Given the description of an element on the screen output the (x, y) to click on. 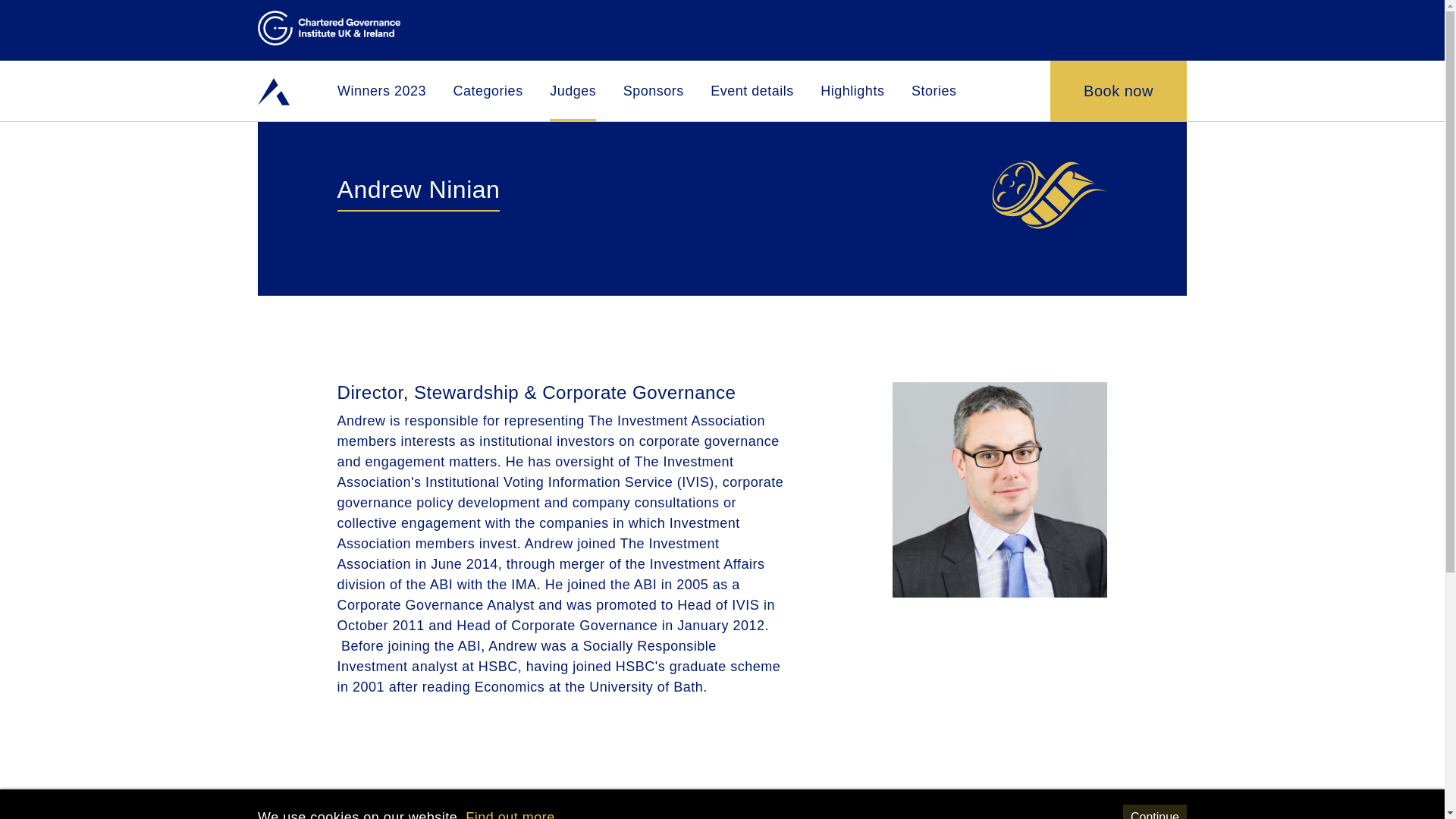
Book now (1117, 90)
Stories (933, 90)
Sponsors (653, 90)
Winners 2023 (381, 90)
Continue (1154, 811)
Find out more (509, 814)
Judges (572, 90)
Categories (487, 90)
Highlights (852, 90)
Event details (751, 90)
